Given the description of an element on the screen output the (x, y) to click on. 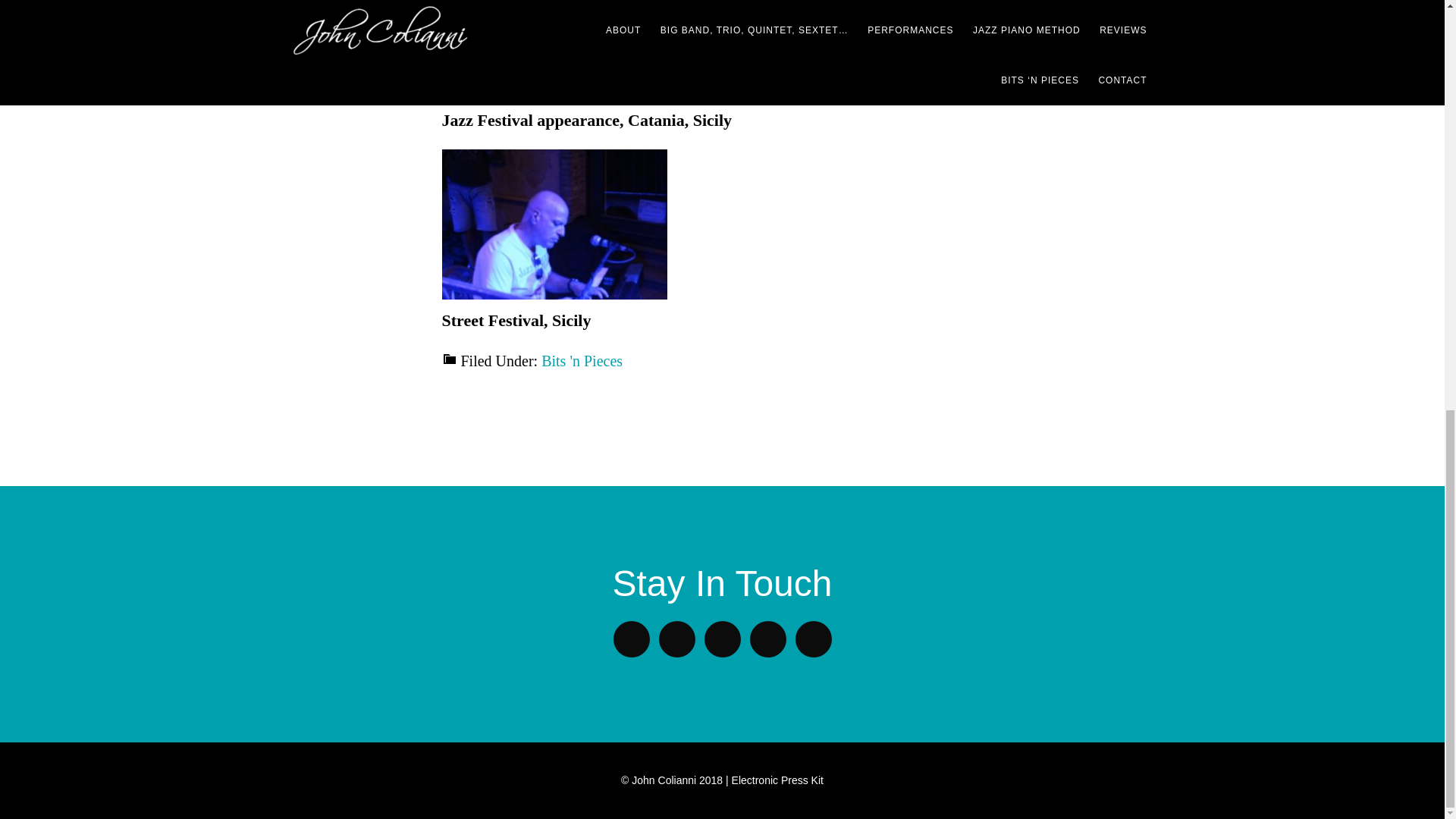
Bits 'n Pieces (582, 360)
Electronic Press Kit (778, 779)
